Given the description of an element on the screen output the (x, y) to click on. 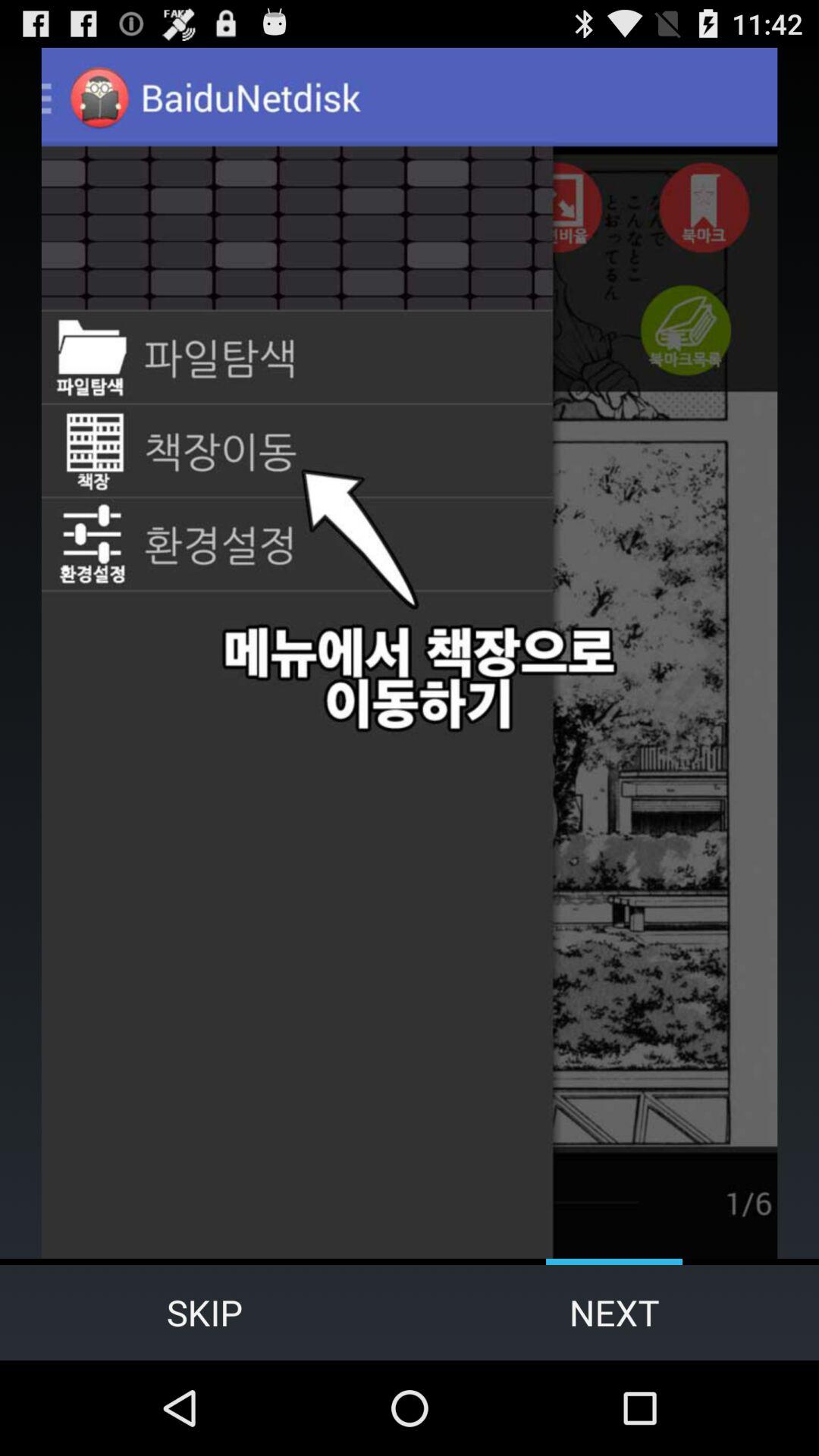
turn off the item next to skip (614, 1312)
